Given the description of an element on the screen output the (x, y) to click on. 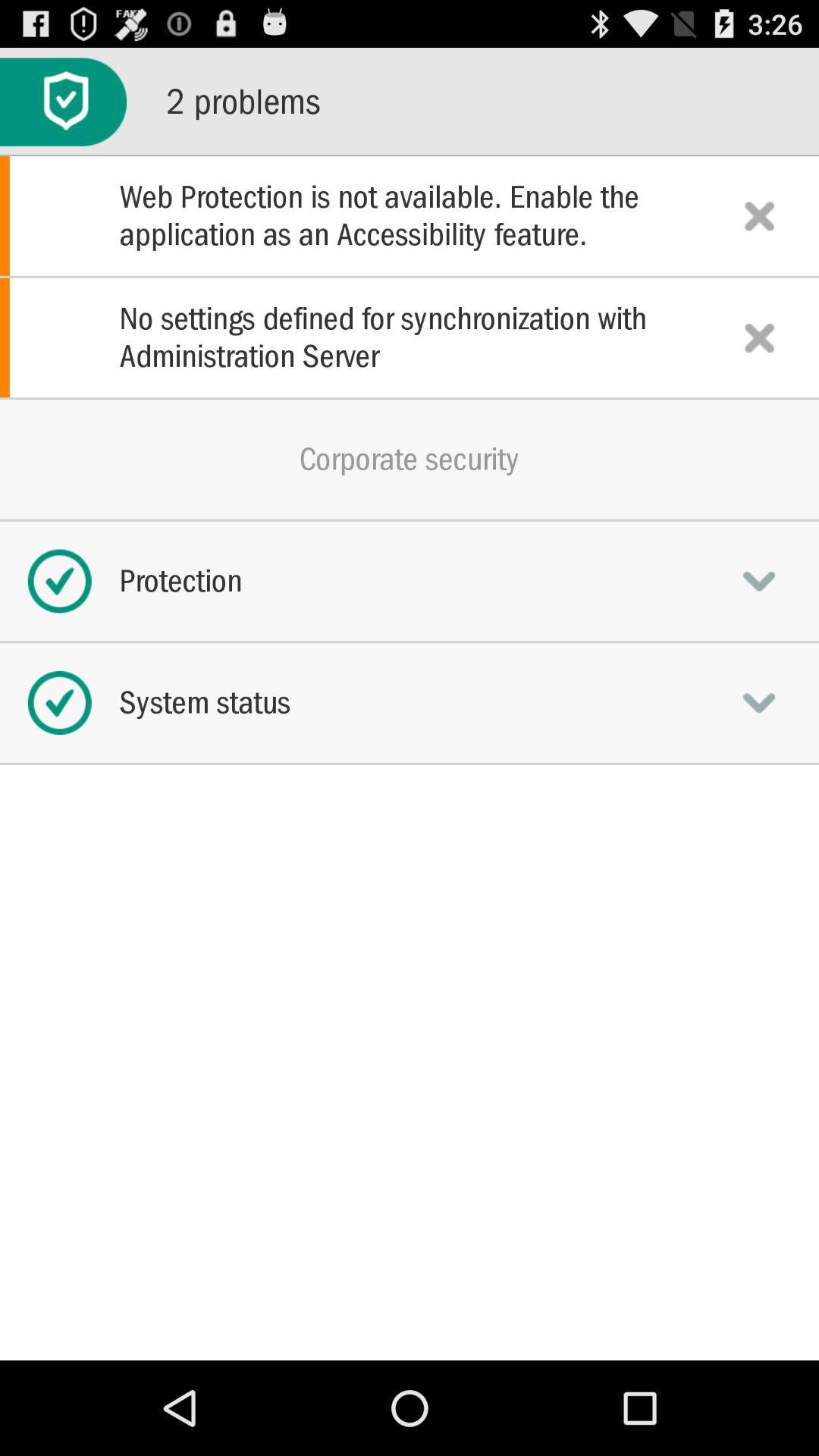
click system status icon (409, 702)
